Given the description of an element on the screen output the (x, y) to click on. 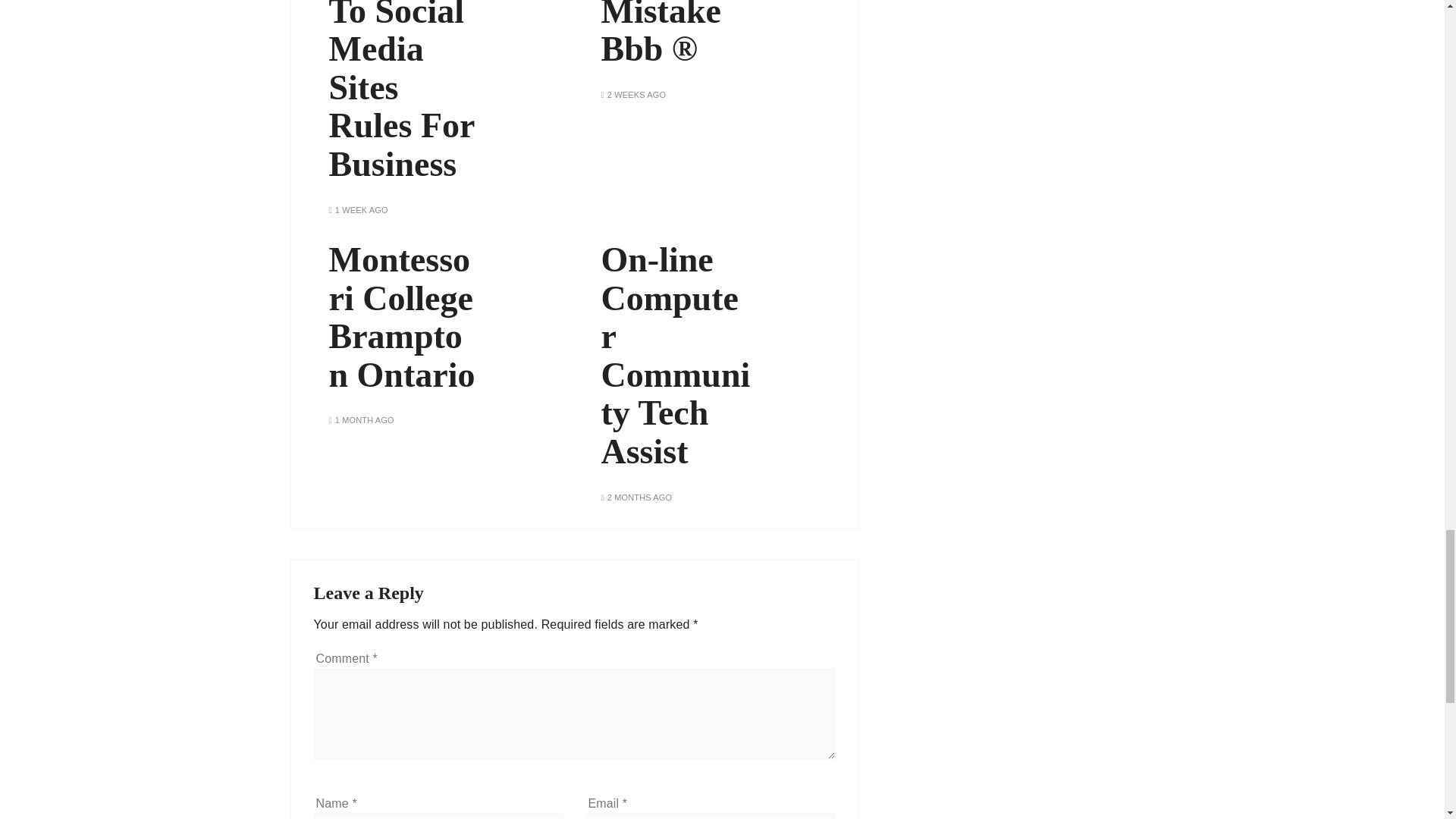
Montessori College Brampton Ontario (404, 316)
